Given the description of an element on the screen output the (x, y) to click on. 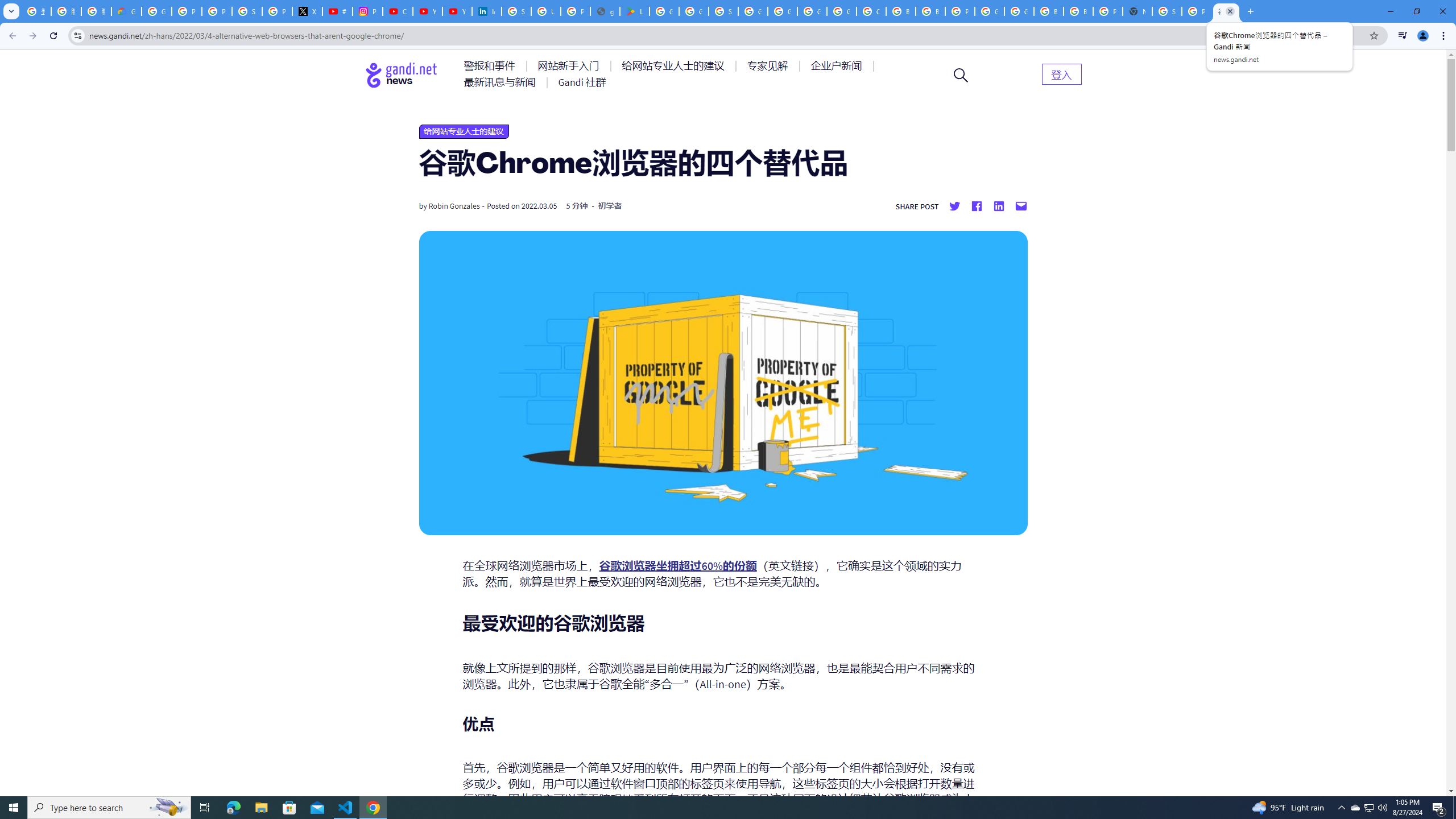
AutomationID: menu-item-77766 (502, 82)
Privacy Help Center - Policies Help (185, 11)
Sign in - Google Accounts (723, 11)
AutomationID: menu-item-77767 (581, 82)
